Given the description of an element on the screen output the (x, y) to click on. 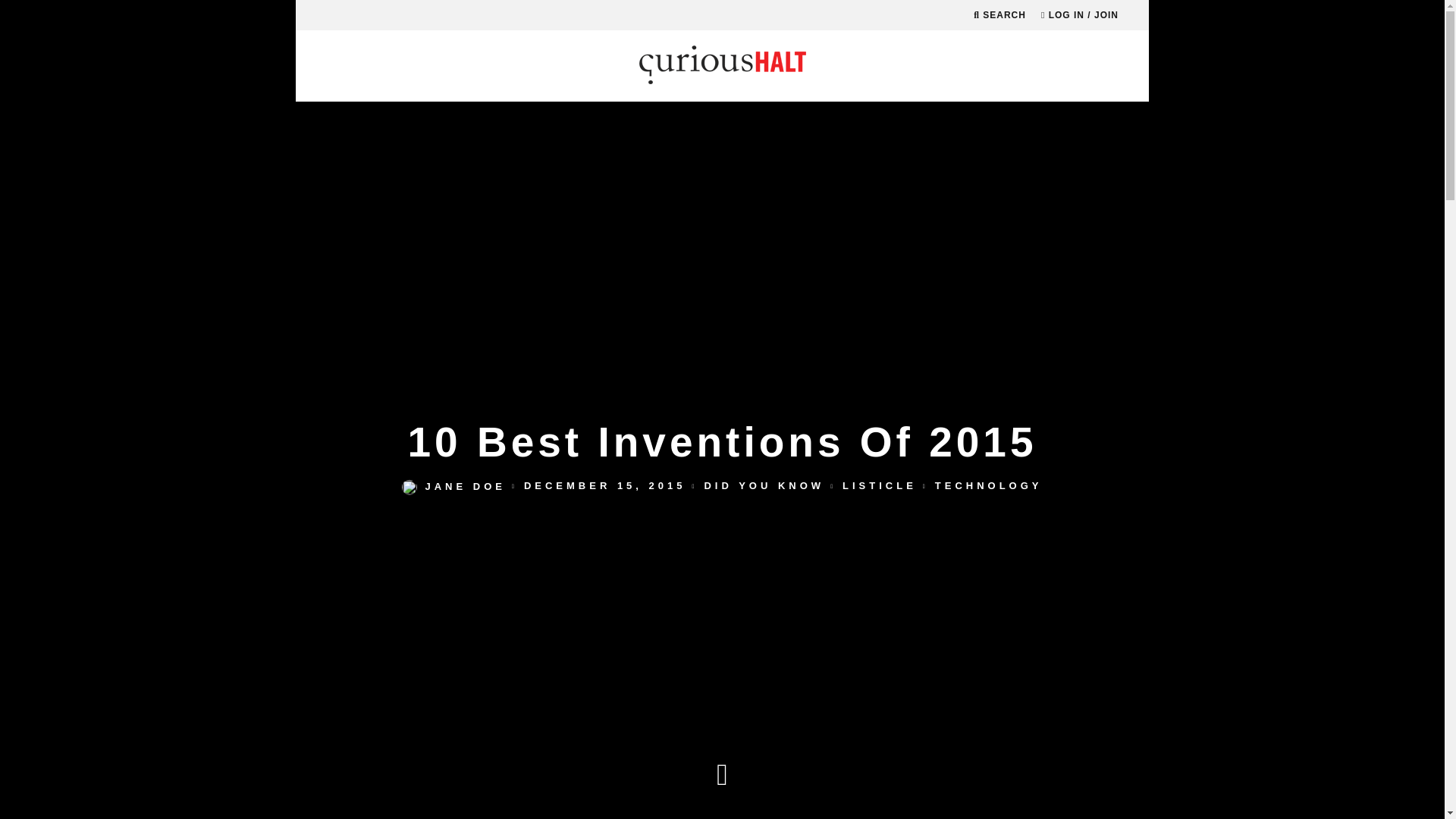
View all posts in Technology (988, 486)
SEARCH (1000, 15)
LISTICLE (880, 486)
View all posts in Listicle (880, 486)
View all posts in Did You Know (763, 486)
Search (1000, 15)
JANE DOE (453, 486)
DID YOU KNOW (763, 486)
Log In (721, 320)
TECHNOLOGY (988, 486)
